Given the description of an element on the screen output the (x, y) to click on. 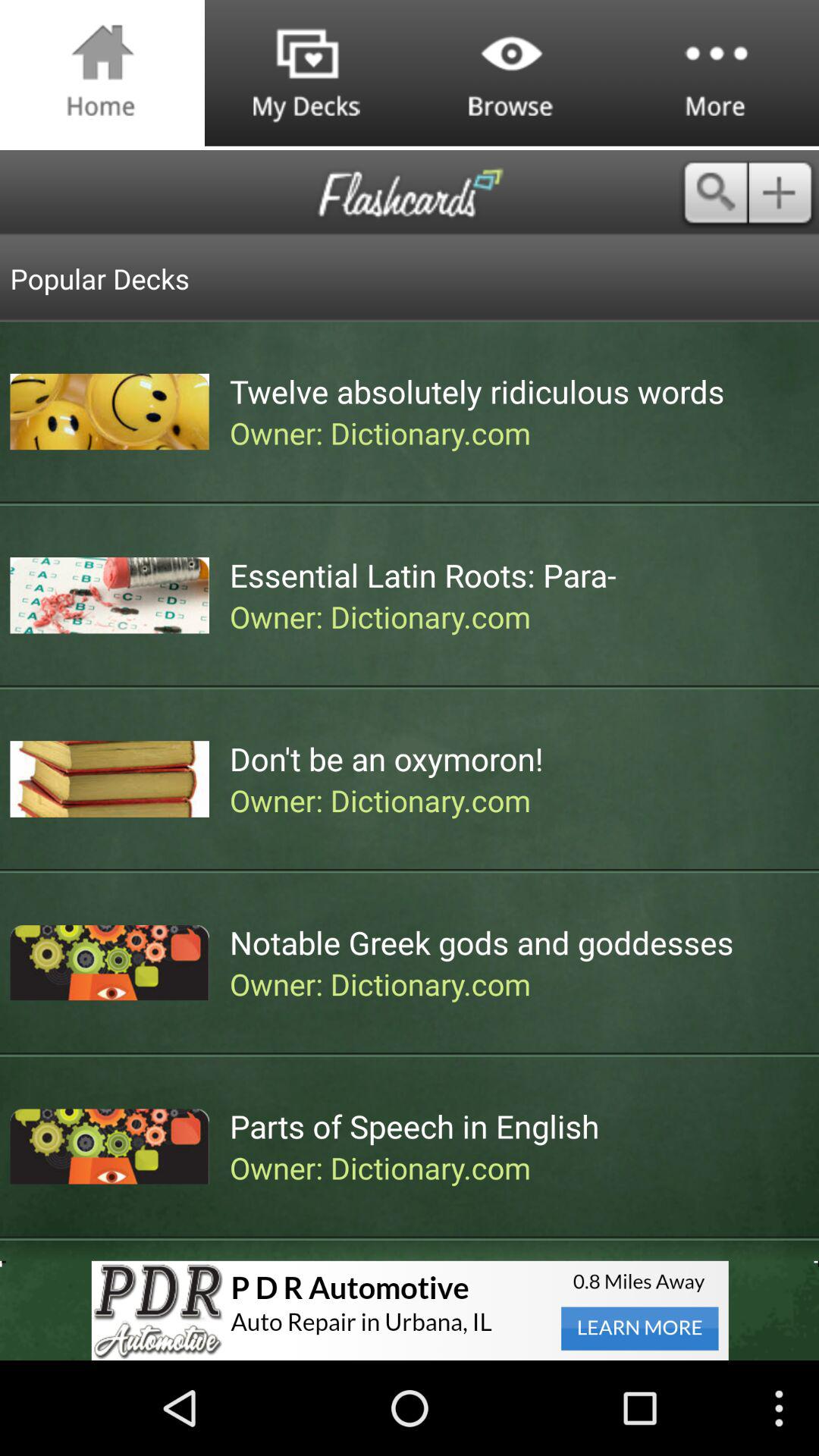
add bar option (784, 192)
